Given the description of an element on the screen output the (x, y) to click on. 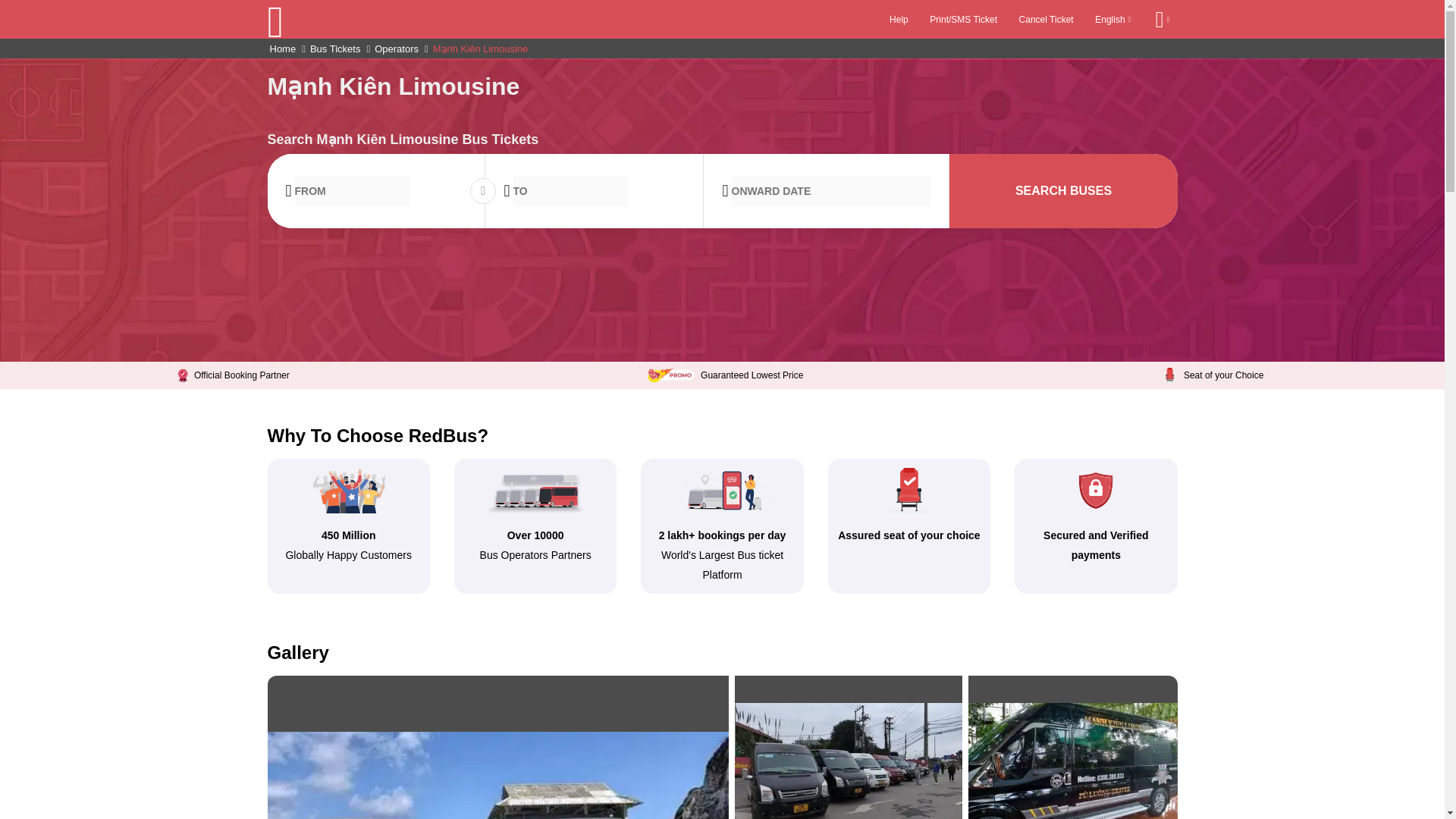
Bus Tickets (335, 48)
Home (282, 48)
Operators (397, 48)
Cancel Ticket (1046, 18)
Help (898, 18)
SEARCH BUSES (1062, 190)
